Given the description of an element on the screen output the (x, y) to click on. 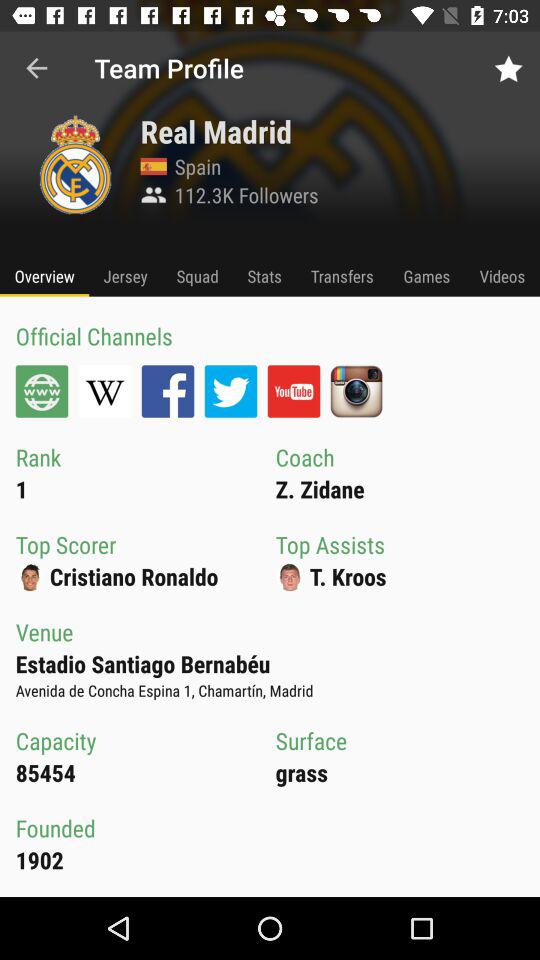
view instagram profile (356, 391)
